Given the description of an element on the screen output the (x, y) to click on. 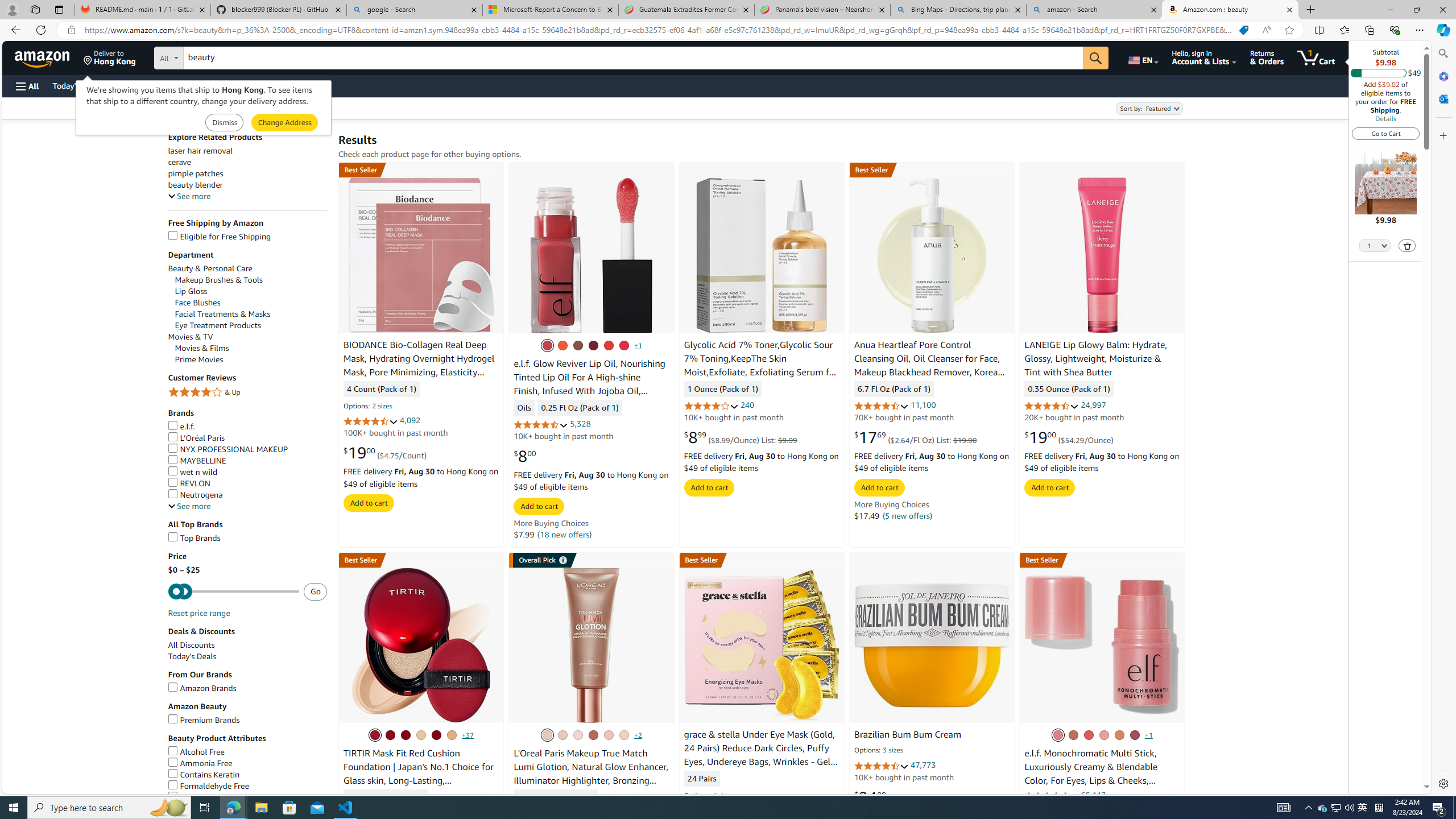
Alcohol Free (247, 751)
Prime Movies (250, 359)
904 Deep (593, 734)
Ammonia Free (199, 763)
Amazon Brands (201, 687)
5,328 (580, 423)
Movies & Films (201, 348)
Amazon Brands (247, 688)
Search in (210, 56)
Formaldehyde Free (207, 785)
